Given the description of an element on the screen output the (x, y) to click on. 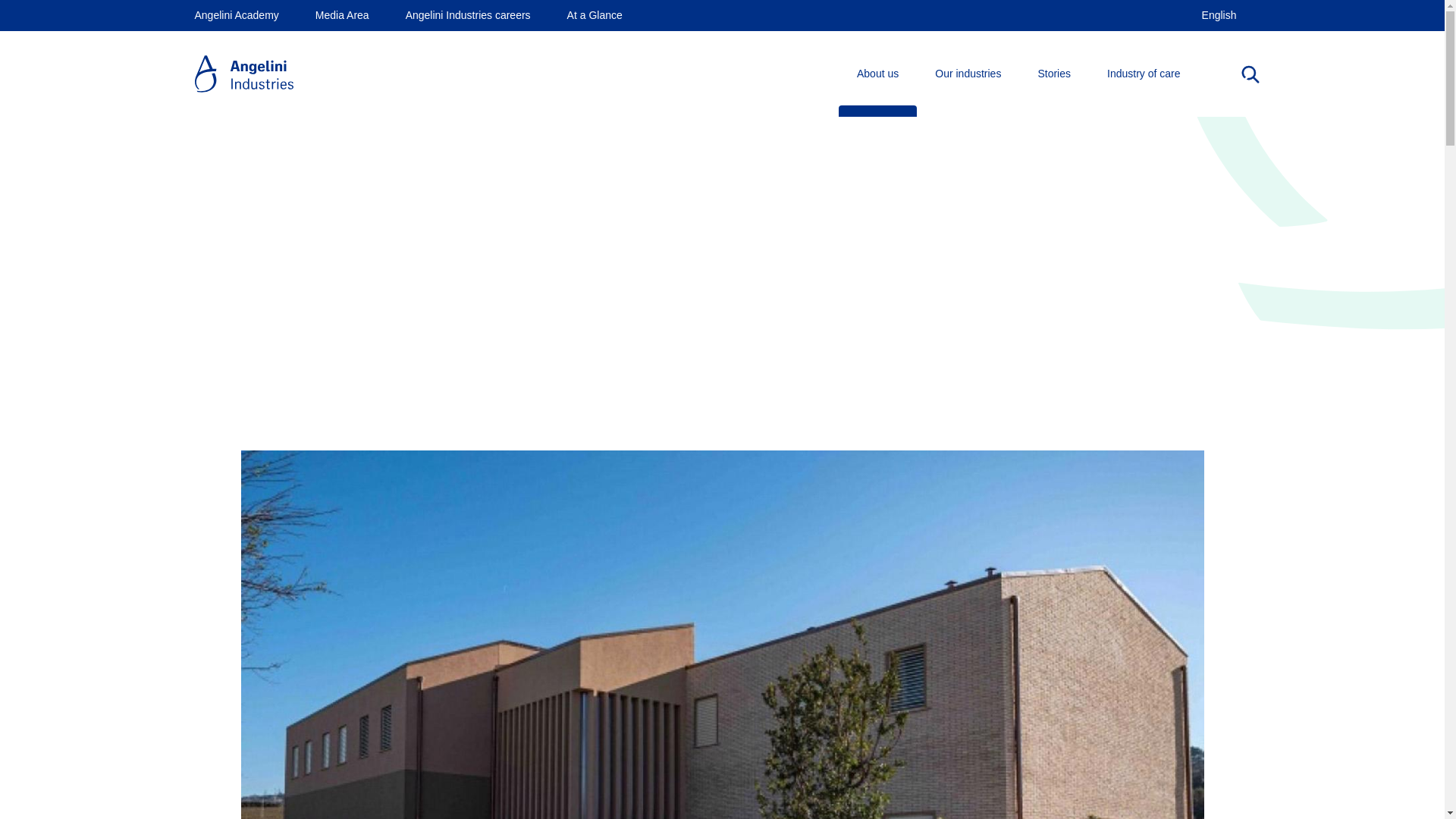
About us (877, 74)
Media Area (342, 15)
Angelini Industries (242, 73)
Angelini Academy (235, 15)
English (1219, 15)
At a Glance (595, 15)
Our industries (968, 74)
Industry of care (1143, 74)
Angelini Industries careers (468, 15)
OPEN SEARCH (1249, 74)
